Given the description of an element on the screen output the (x, y) to click on. 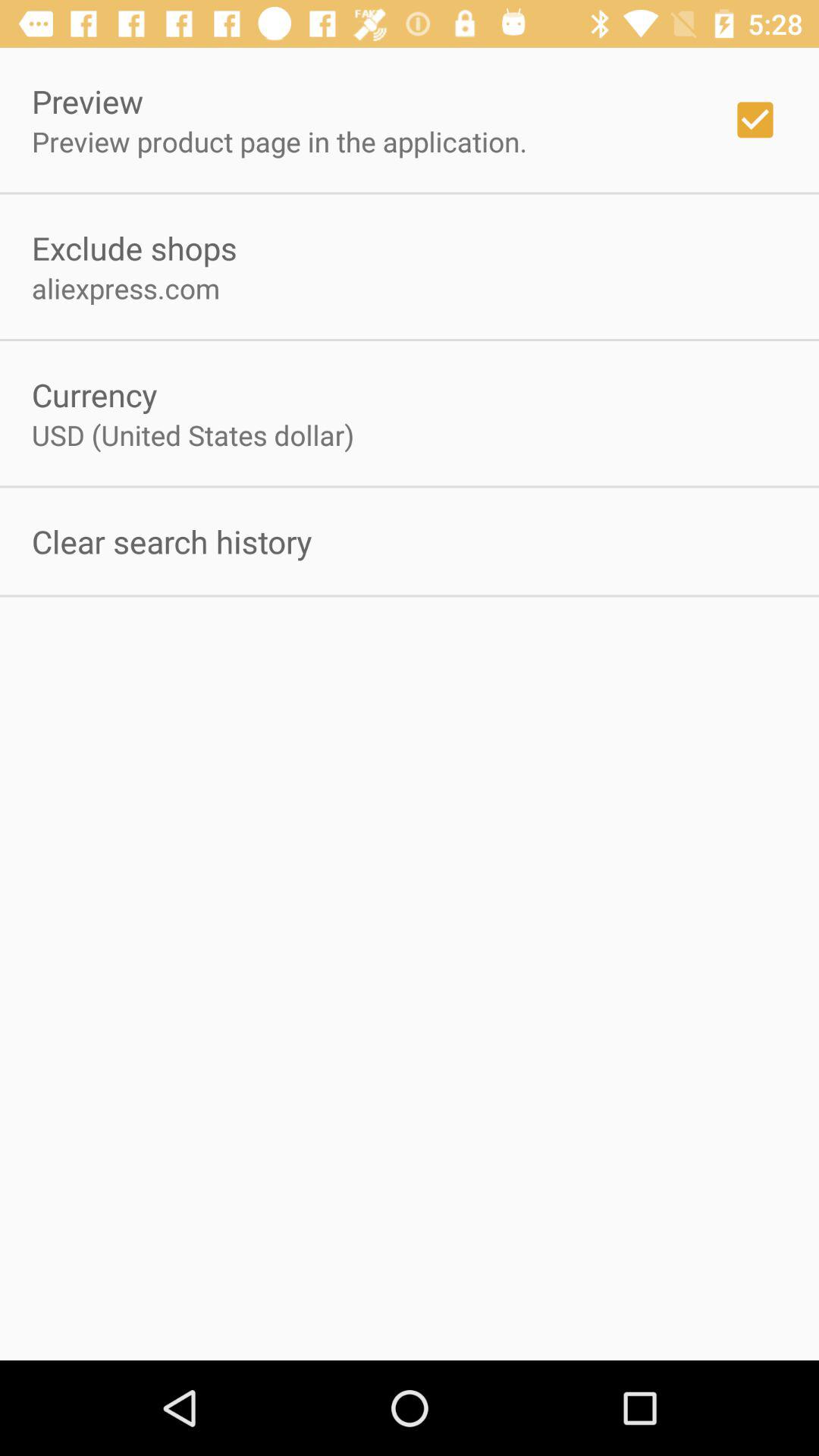
click the app above exclude shops app (279, 141)
